Given the description of an element on the screen output the (x, y) to click on. 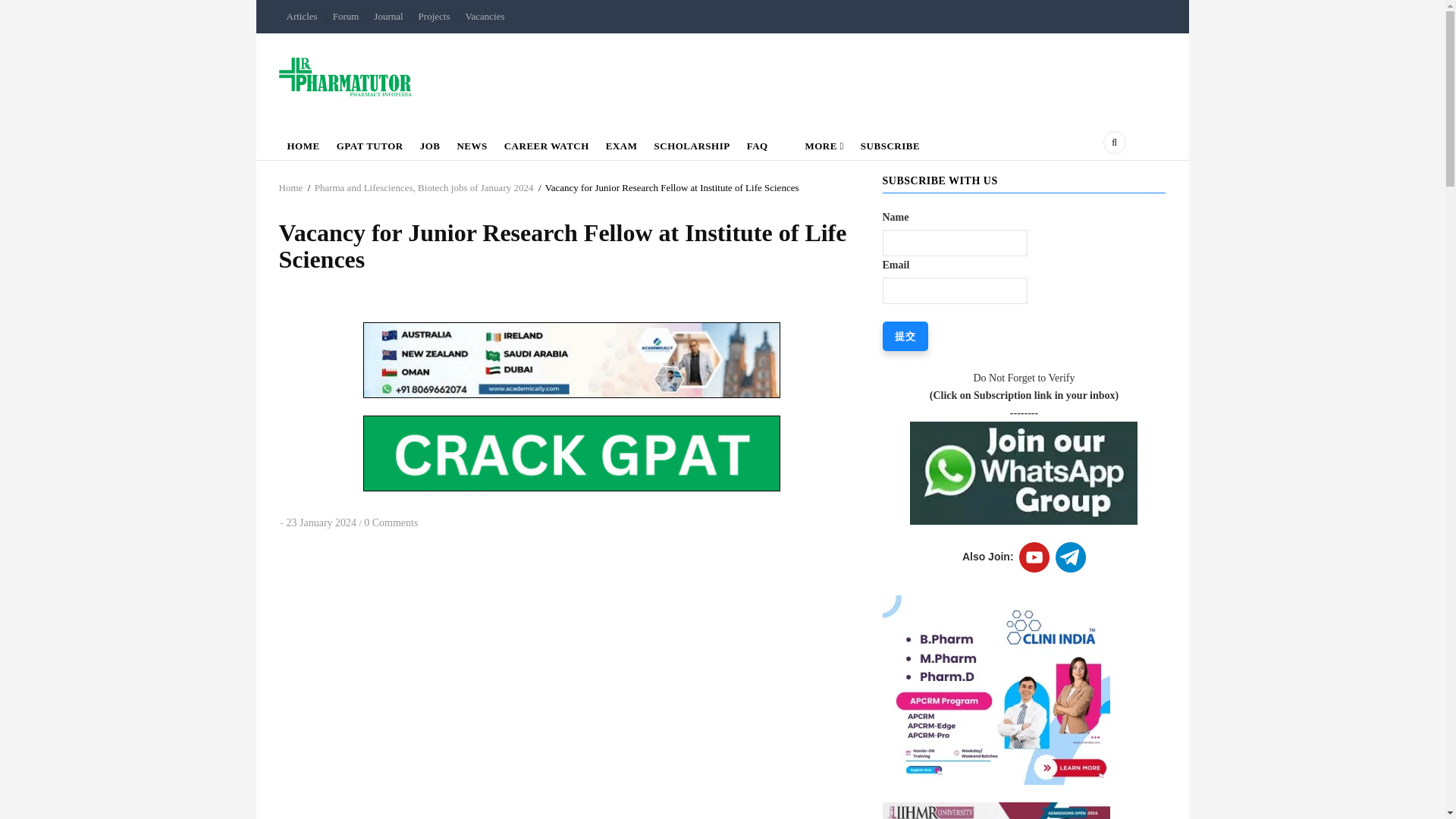
Journal (388, 16)
NEWS (471, 142)
Vacancies (485, 16)
Articles (301, 16)
Home (345, 75)
MORE (813, 142)
SCHOLARSHIP (692, 142)
GPAT TUTOR (370, 142)
SUBSCRIBE (889, 142)
